Given the description of an element on the screen output the (x, y) to click on. 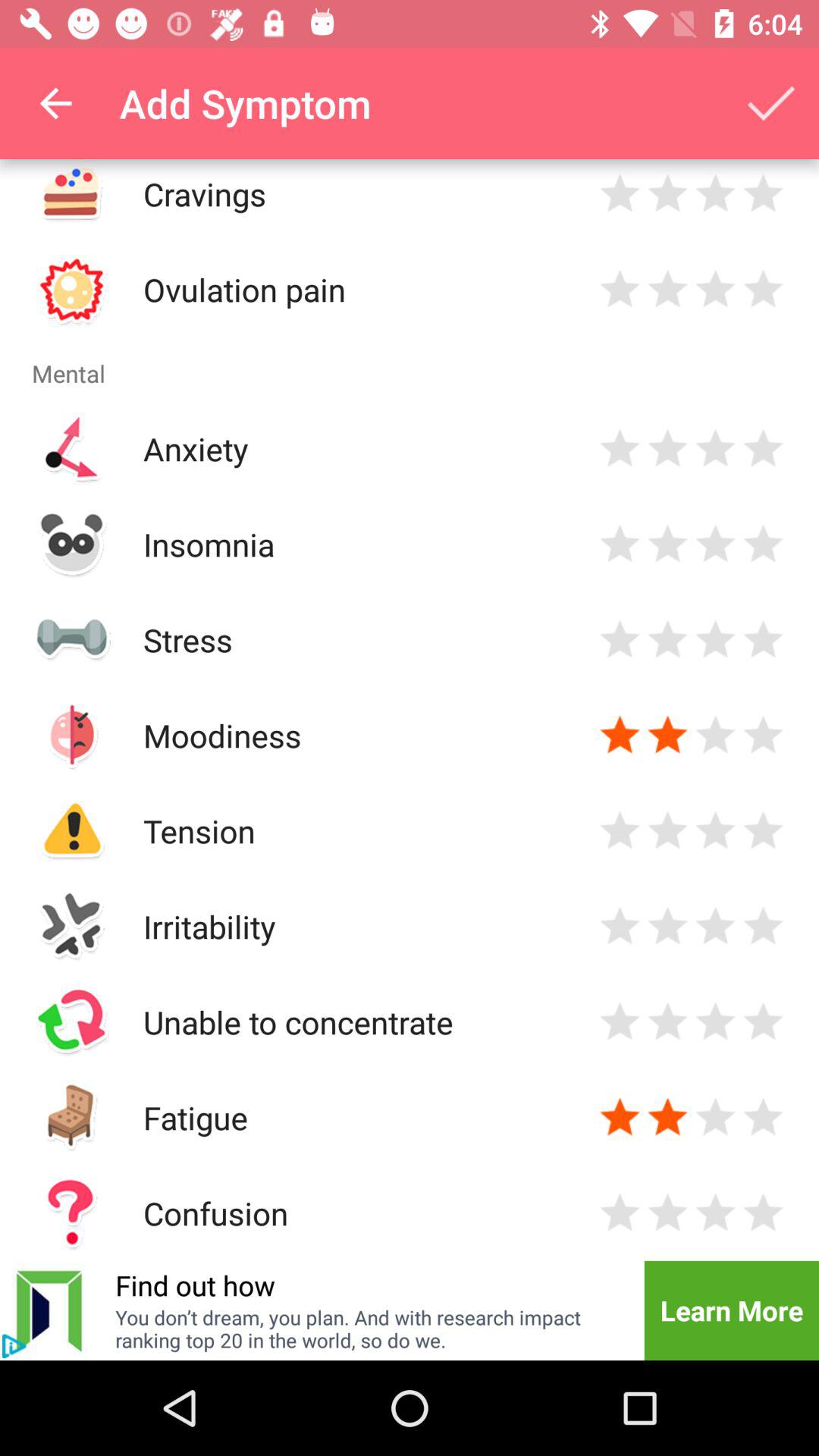
rate 4 stars (763, 1117)
